Given the description of an element on the screen output the (x, y) to click on. 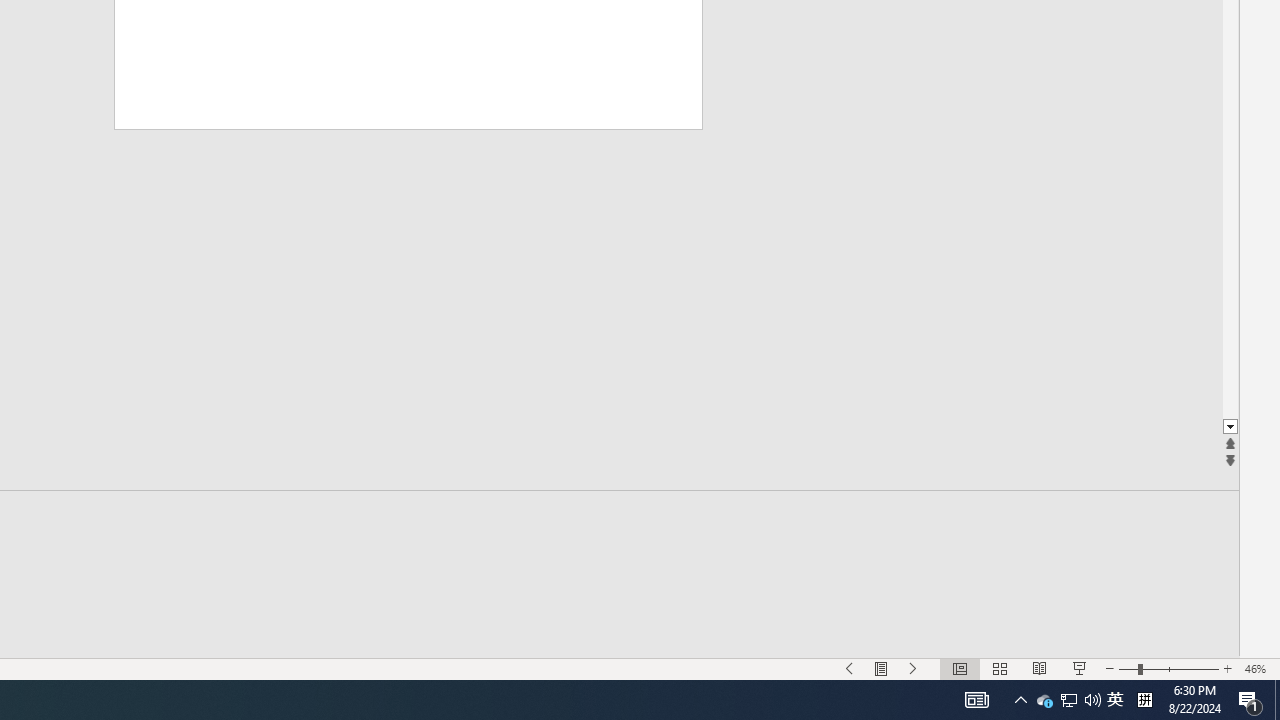
Slide Show Next On (914, 668)
Slide Show Previous On (850, 668)
Menu On (882, 668)
Zoom 46% (1258, 668)
